Given the description of an element on the screen output the (x, y) to click on. 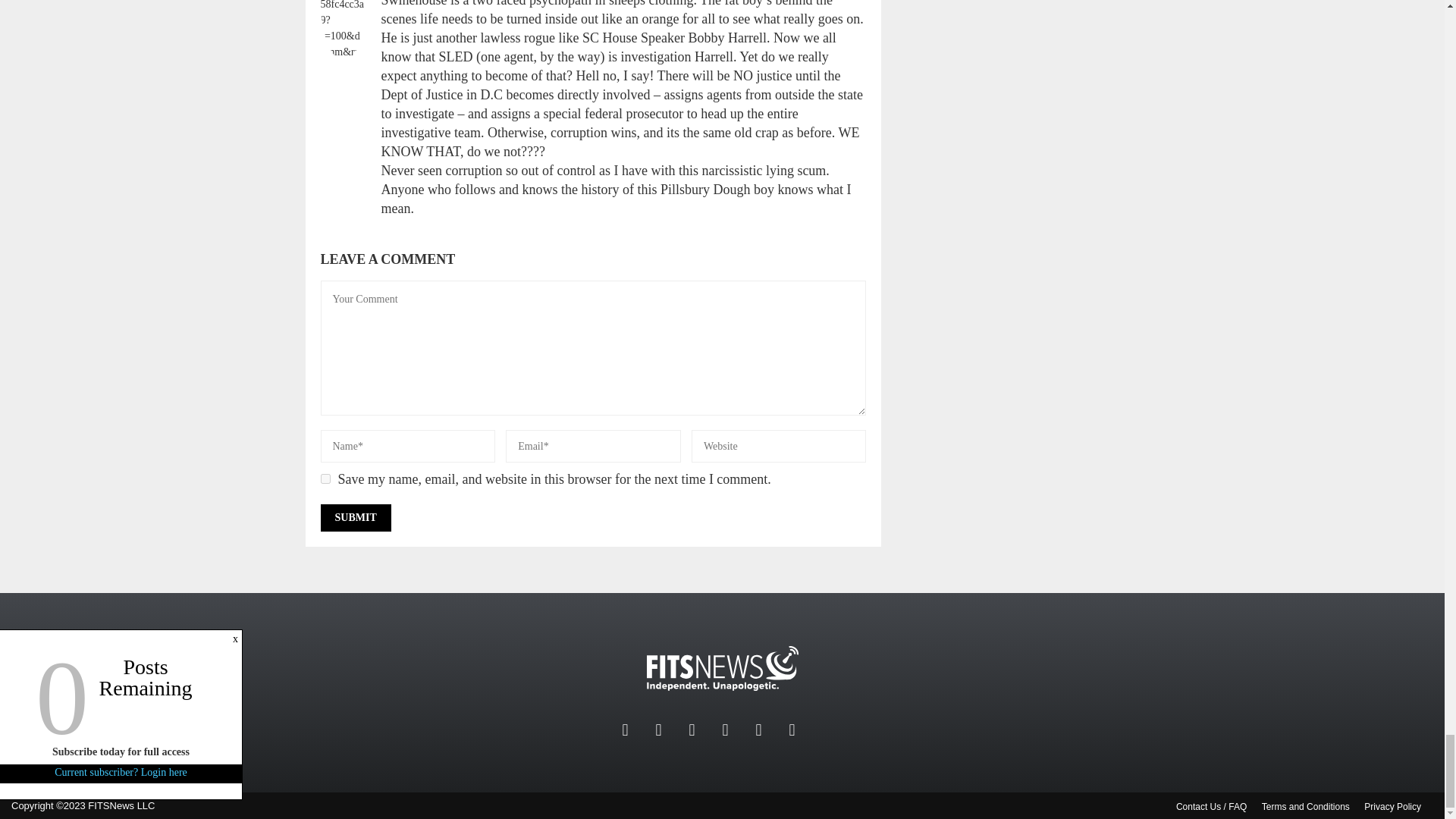
Submit (355, 517)
yes (325, 479)
